Given the description of an element on the screen output the (x, y) to click on. 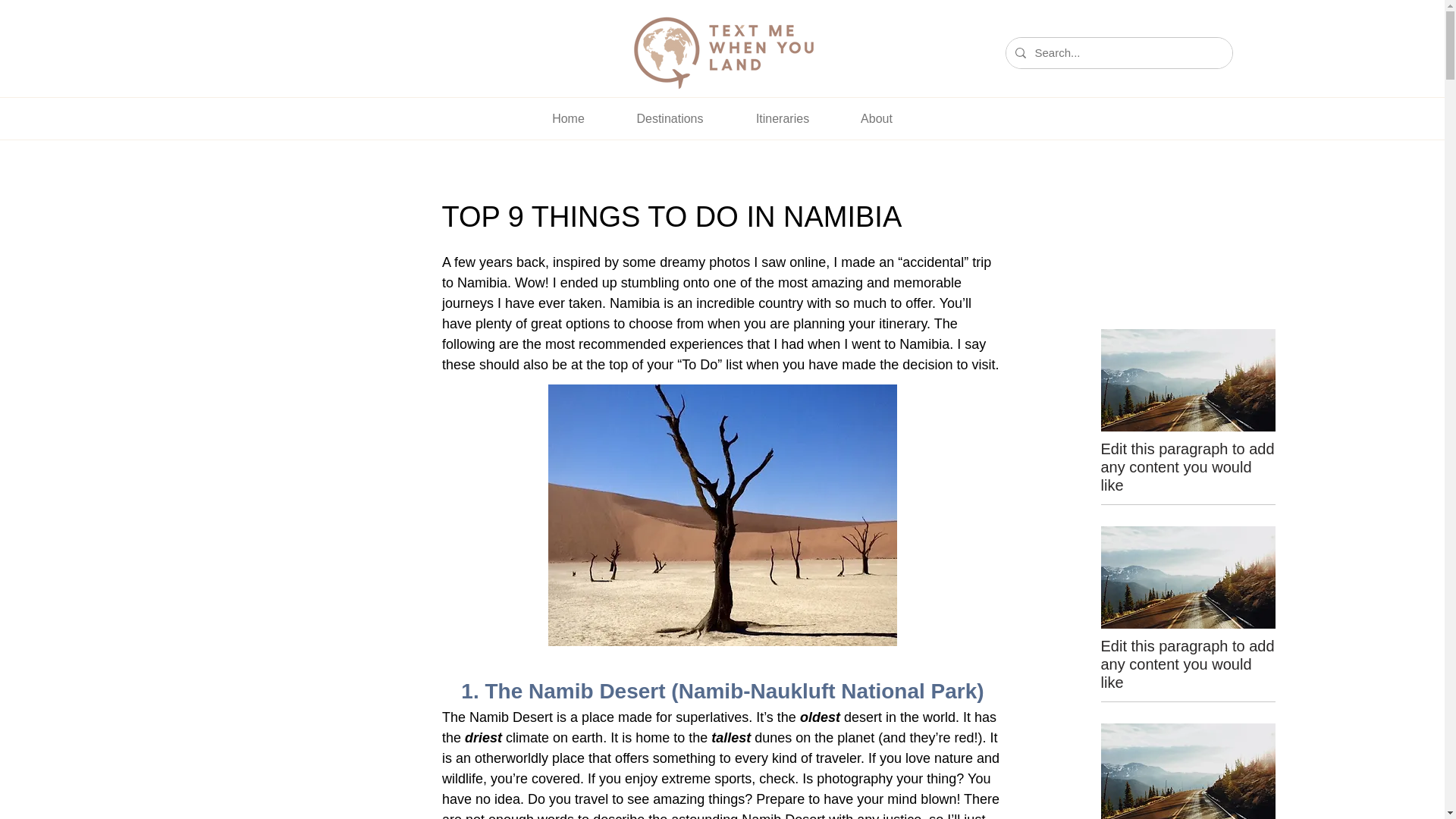
Itineraries (781, 118)
logo-04.png (721, 52)
Destinations (669, 118)
Home (567, 118)
Countryside Road (1187, 577)
Countryside Road (1187, 380)
About (876, 118)
Countryside Road (1187, 771)
